Given the description of an element on the screen output the (x, y) to click on. 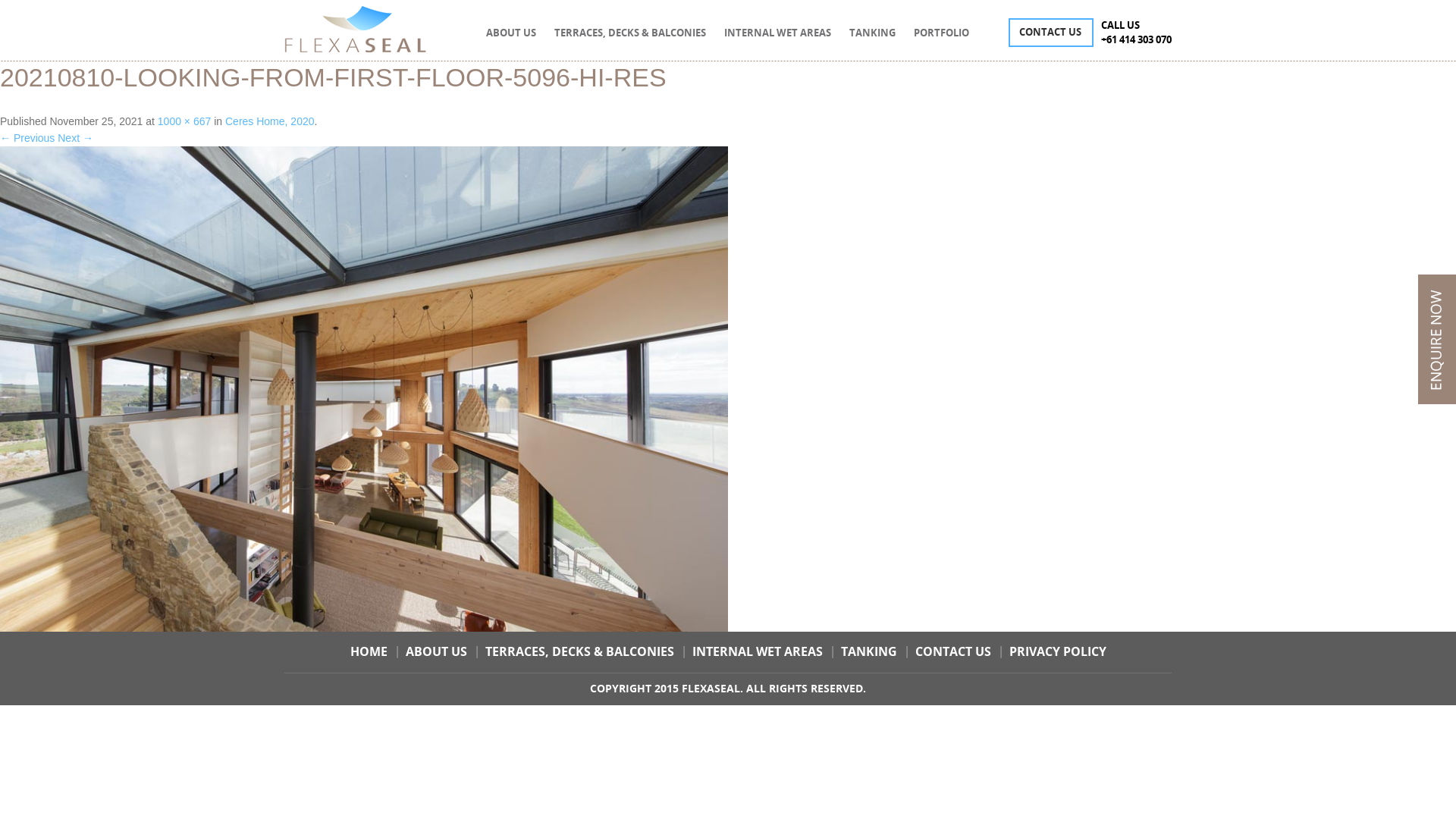
TERRACES, DECKS & BALCONIES Element type: text (630, 33)
Ceres Home, 2020 Element type: text (269, 121)
TANKING Element type: text (872, 33)
Flexaseal Element type: hover (355, 29)
INTERNAL WET AREAS Element type: text (756, 651)
TANKING Element type: text (868, 651)
HOME Element type: text (368, 651)
ABOUT US Element type: text (435, 651)
PRIVACY POLICY Element type: text (1056, 651)
CONTACT US Element type: text (952, 651)
20210810-Looking-from-first-floor-5096-hi-res Element type: hover (364, 154)
INTERNAL WET AREAS Element type: text (777, 33)
TERRACES, DECKS & BALCONIES Element type: text (579, 651)
CONTACT US Element type: text (1050, 32)
PORTFOLIO Element type: text (941, 33)
ABOUT US Element type: text (510, 33)
